Given the description of an element on the screen output the (x, y) to click on. 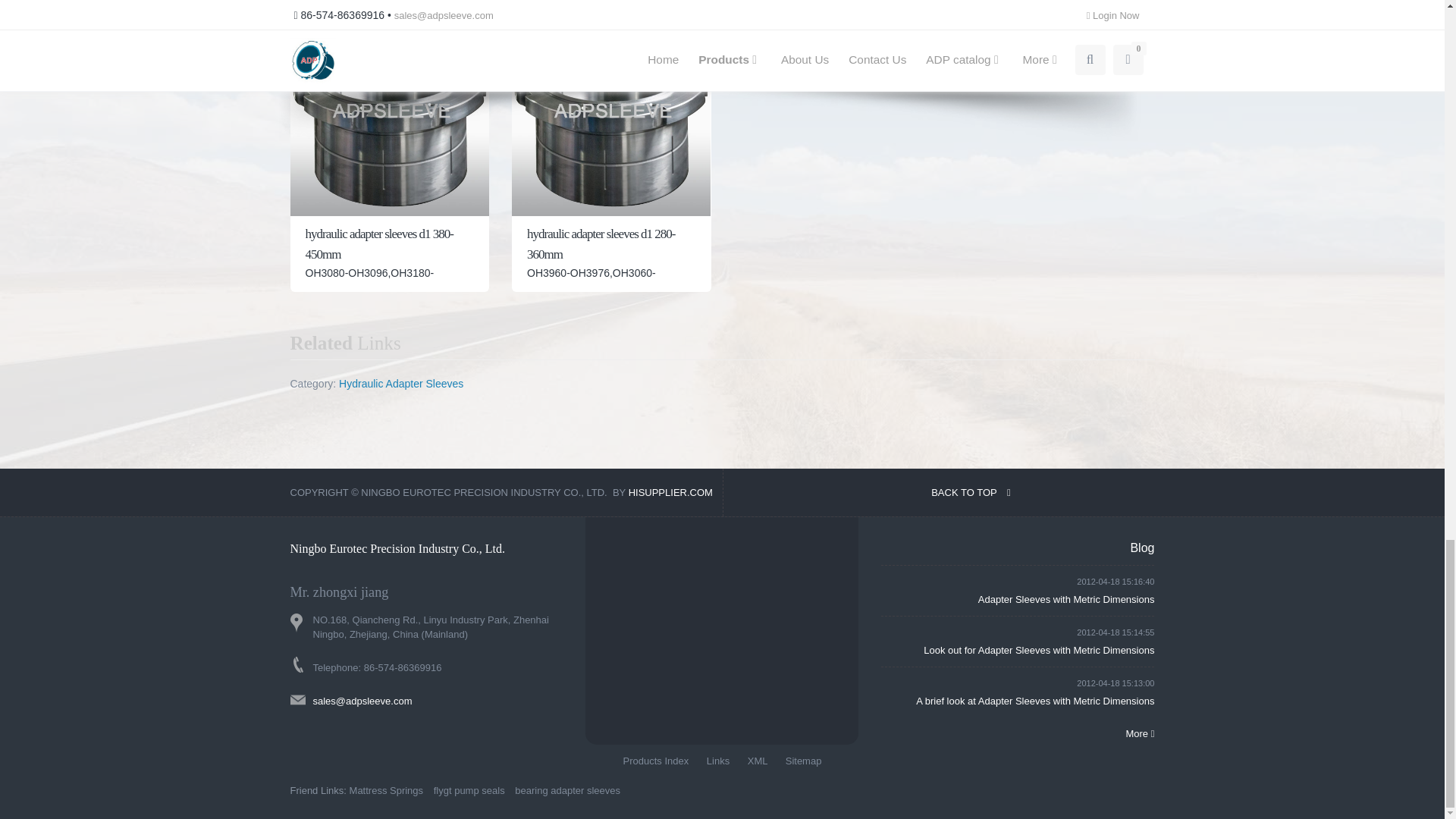
Hydraulic Adapter Sleeves (401, 383)
China Suppliers Directory (670, 491)
